Given the description of an element on the screen output the (x, y) to click on. 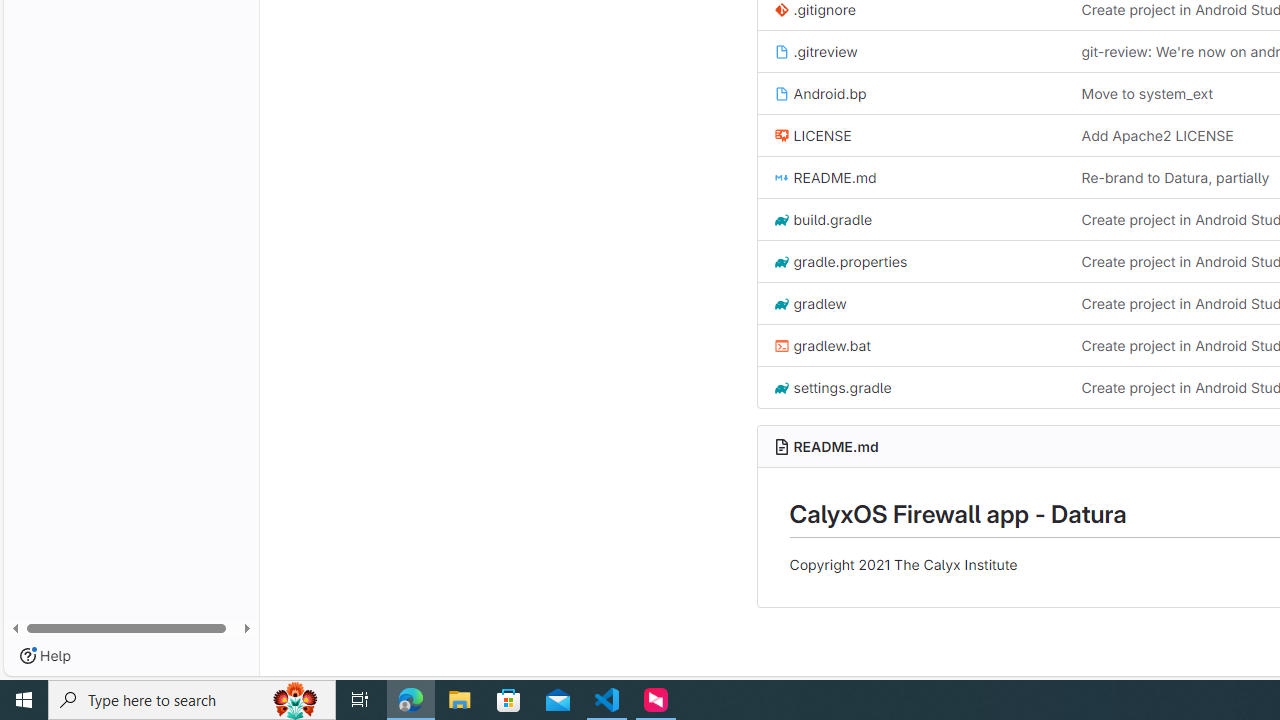
LICENSE (911, 134)
gradlew.bat (911, 345)
Android.bp (911, 93)
build.gradle (822, 218)
gradlew (810, 303)
settings.gradle (911, 386)
gradle.properties (840, 261)
gradle.properties (911, 260)
